Given the description of an element on the screen output the (x, y) to click on. 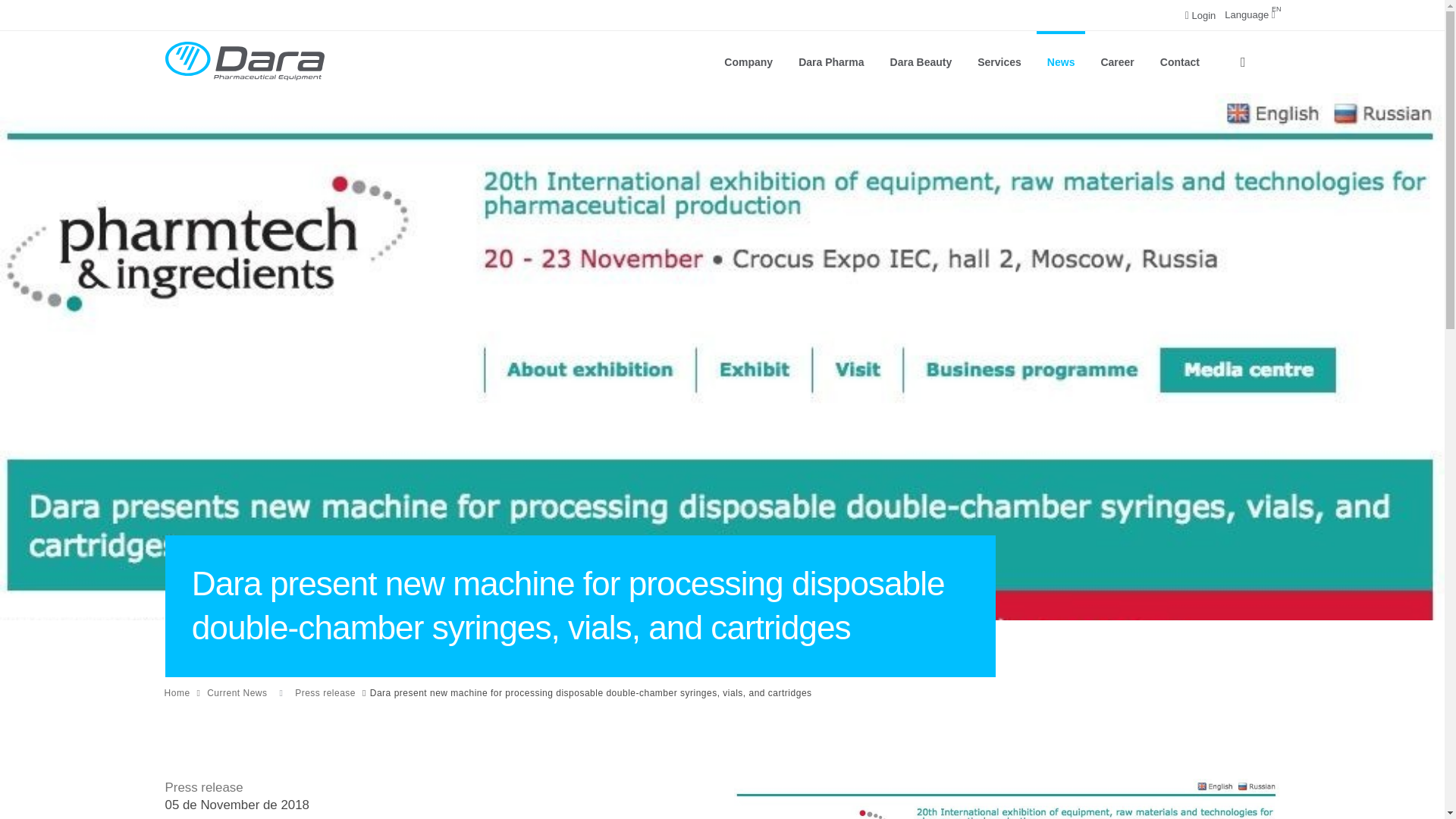
Dara Pharma (1249, 14)
Company (831, 62)
Login (748, 62)
